Given the description of an element on the screen output the (x, y) to click on. 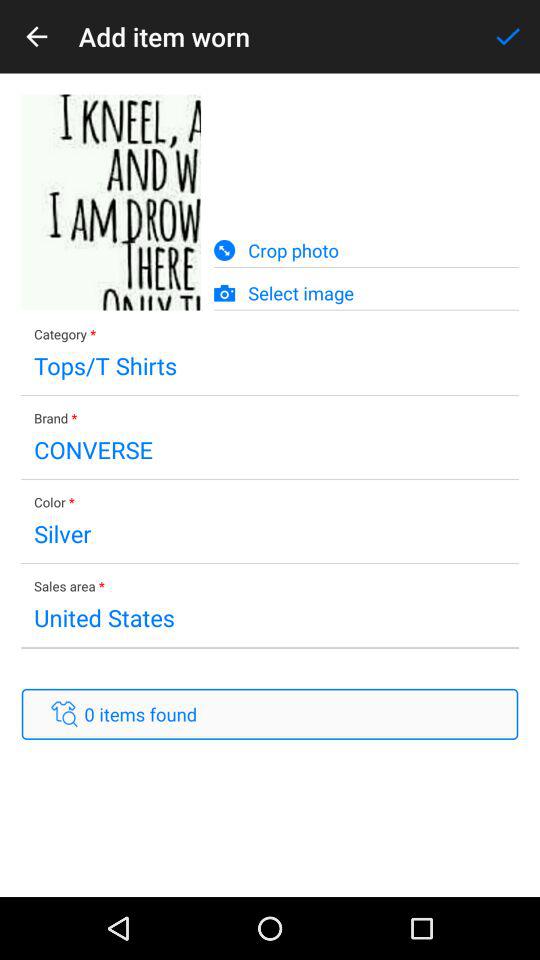
open item to the left of add item worn icon (36, 36)
